Given the description of an element on the screen output the (x, y) to click on. 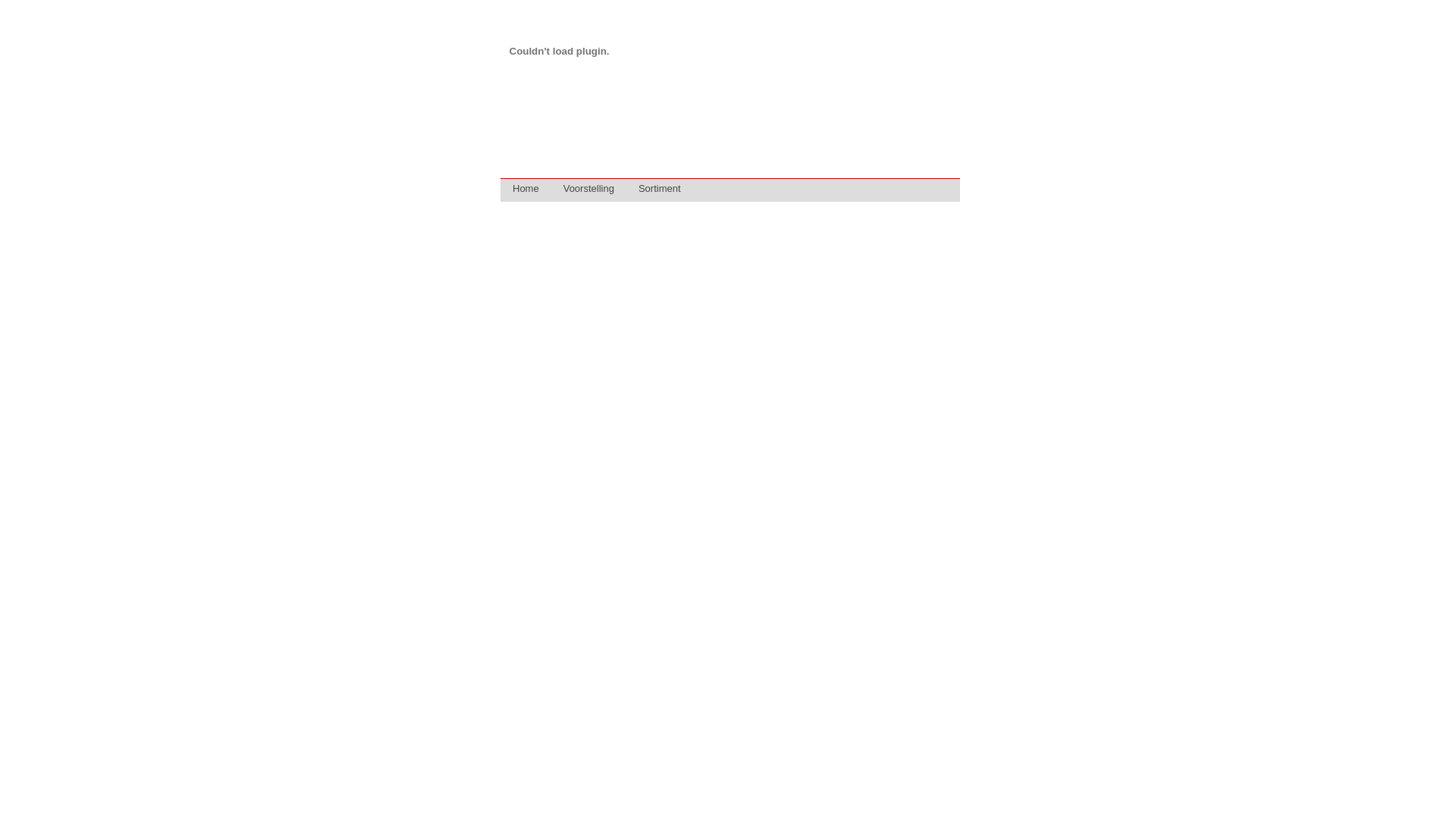
Sortiment Element type: text (659, 189)
Voorstelling Element type: text (588, 189)
Home Element type: text (525, 189)
